Given the description of an element on the screen output the (x, y) to click on. 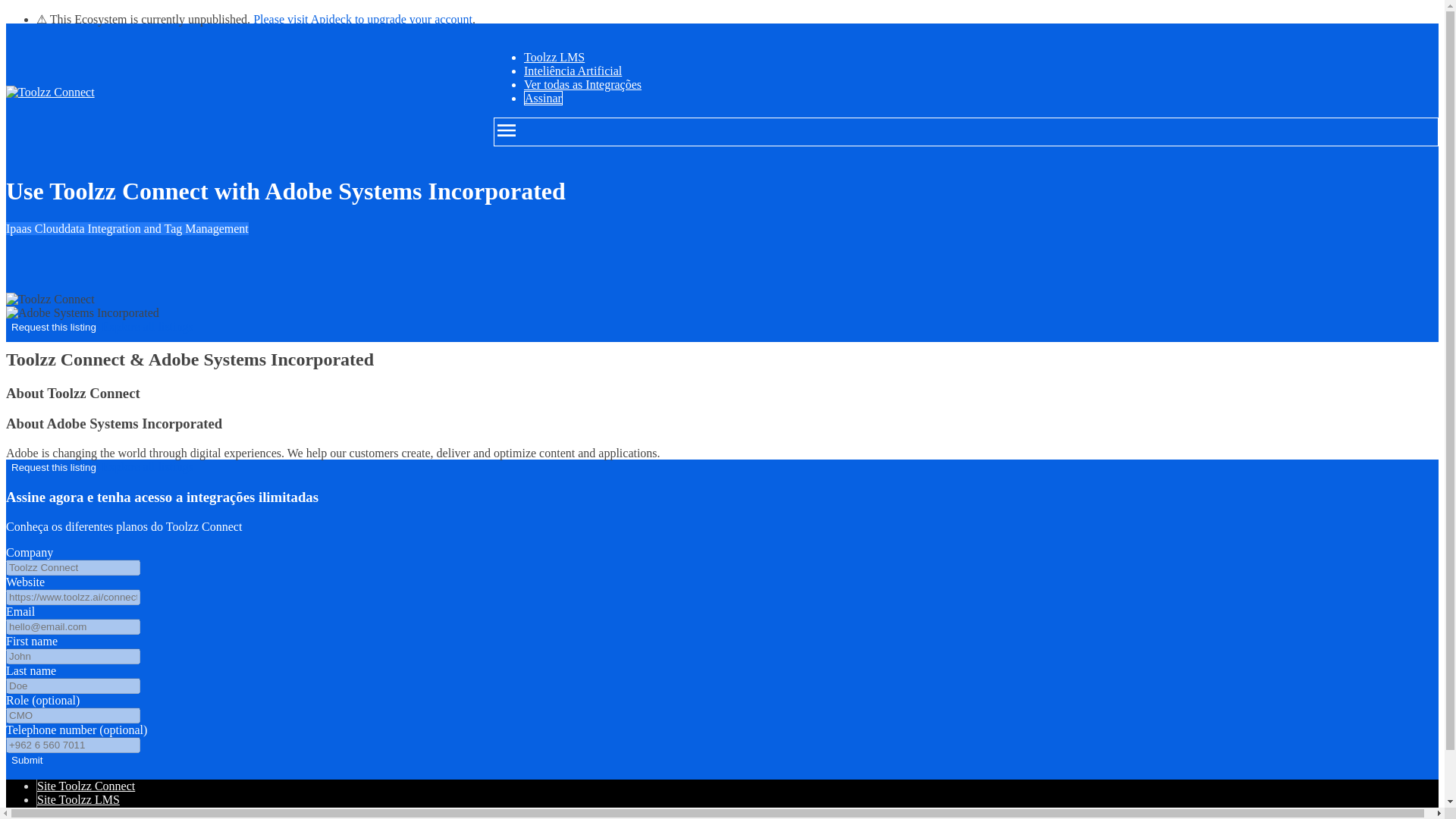
Site Toolzz Connect (86, 785)
Toolzz LMS (554, 56)
Explore all listings (147, 326)
Explore all listings (147, 466)
Powered by Apideck (87, 812)
Submit (26, 759)
Toolzz Connect (49, 92)
Request this listing (53, 467)
Site Toolzz LMS (78, 799)
Adobe Systems Incorporated (81, 313)
Request this listing (53, 327)
Assinar (543, 97)
Please visit Apideck to upgrade your account (362, 19)
Toolzz Connect (49, 299)
